Given the description of an element on the screen output the (x, y) to click on. 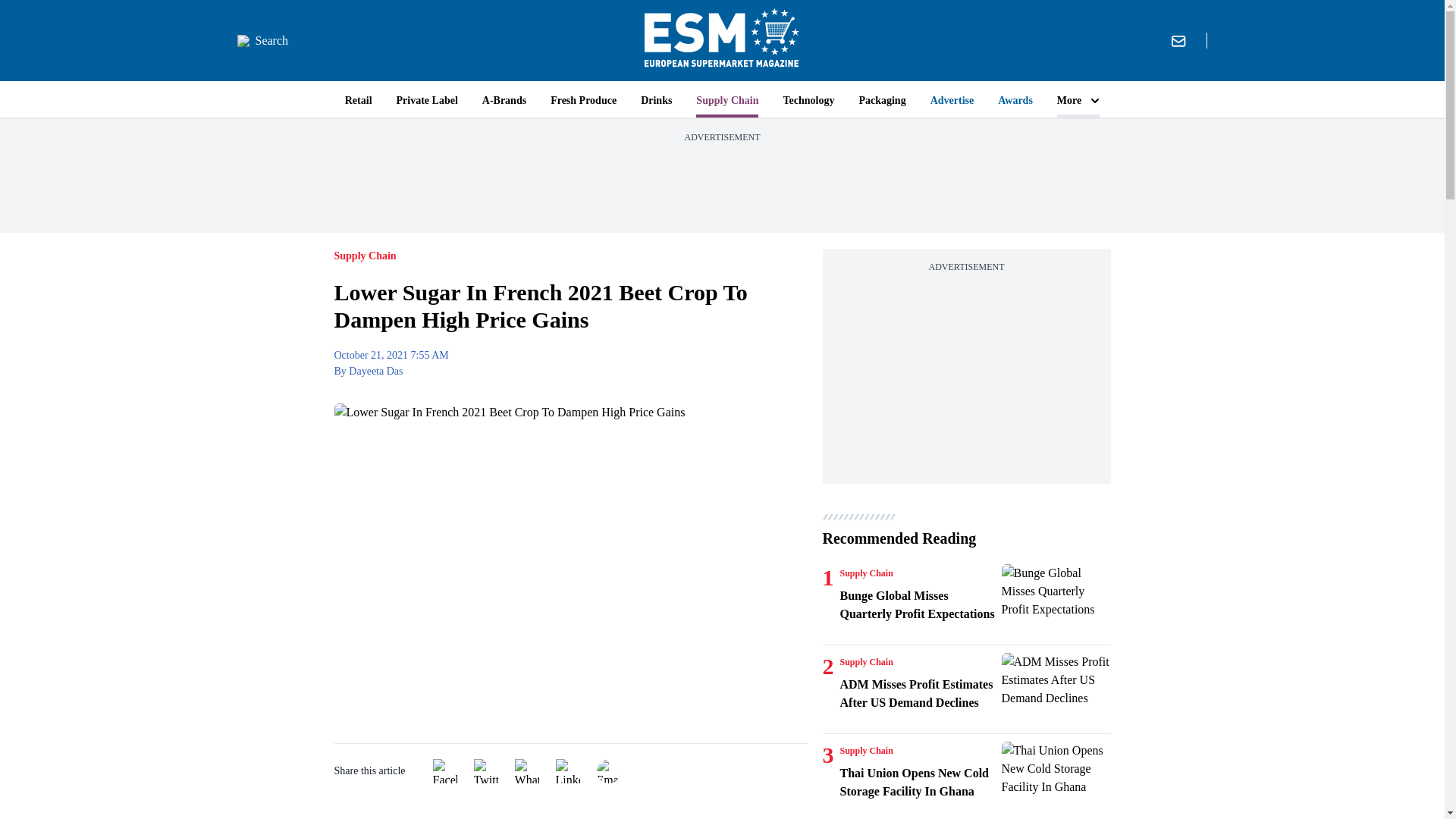
Supply Chain (866, 662)
ESM (722, 40)
ADM Misses Profit Estimates After US Demand Declines (1055, 688)
Search (261, 40)
ADM Misses Profit Estimates After US Demand Declines (917, 693)
Bunge Global Misses Quarterly Profit Expectations (1055, 600)
Supply Chain (866, 573)
Bunge Global Misses Quarterly Profit Expectations (917, 605)
Supply Chain (866, 750)
